Given the description of an element on the screen output the (x, y) to click on. 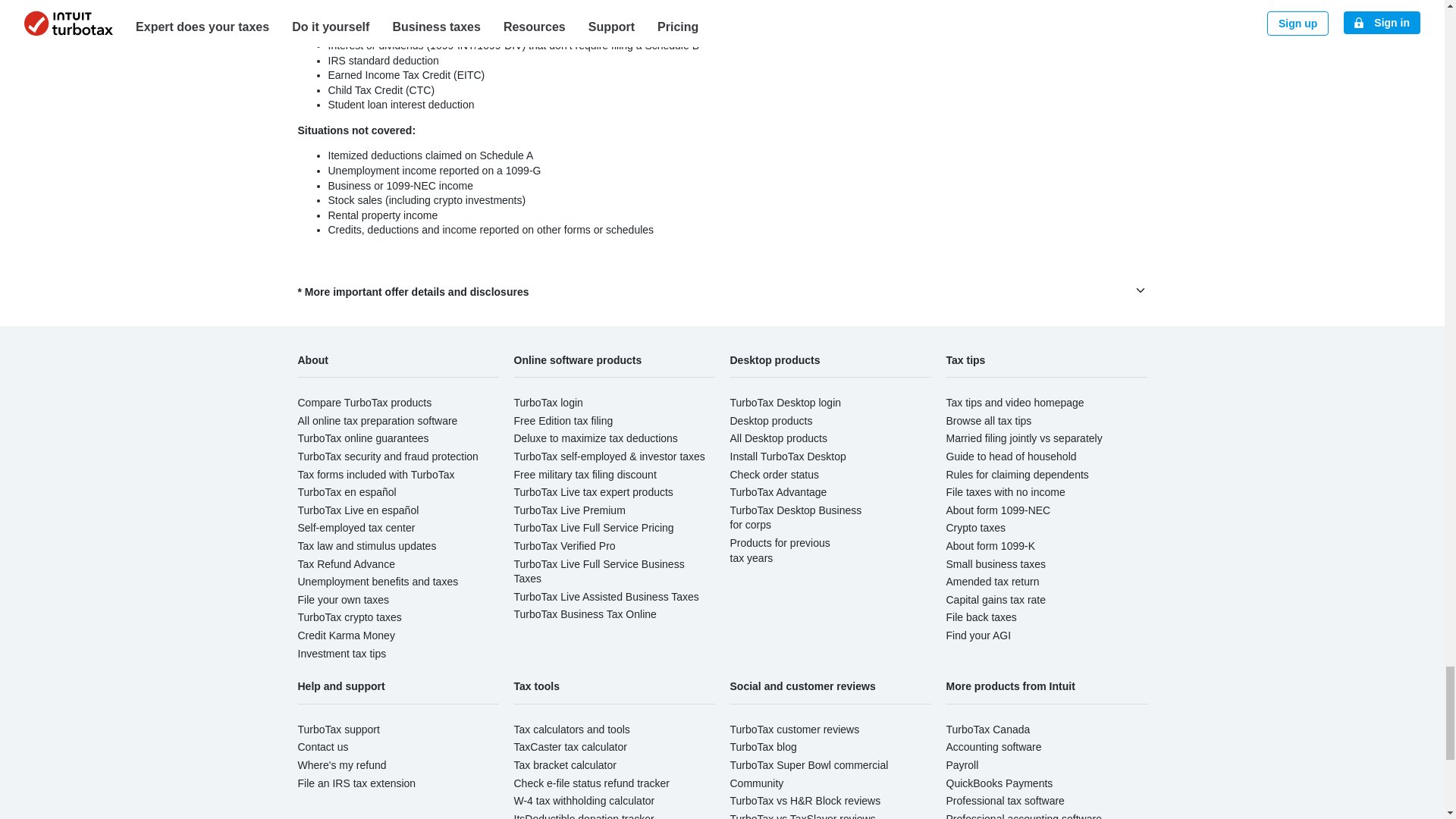
Compare TurboTax products (363, 402)
Free Military tax filing discount (584, 474)
Deluxe to maximize tax deductions (595, 438)
Free Edition tax filing (562, 420)
TurboTax Live tax expert products (592, 491)
TurboTax Verified Pro (564, 545)
TurboTax login (548, 402)
Install TurboTax Desktop (787, 456)
All online tax preparation software (377, 420)
TurboTax Advantage program (778, 491)
Check order status (773, 474)
TurboTax Business for corps (795, 517)
